Given the description of an element on the screen output the (x, y) to click on. 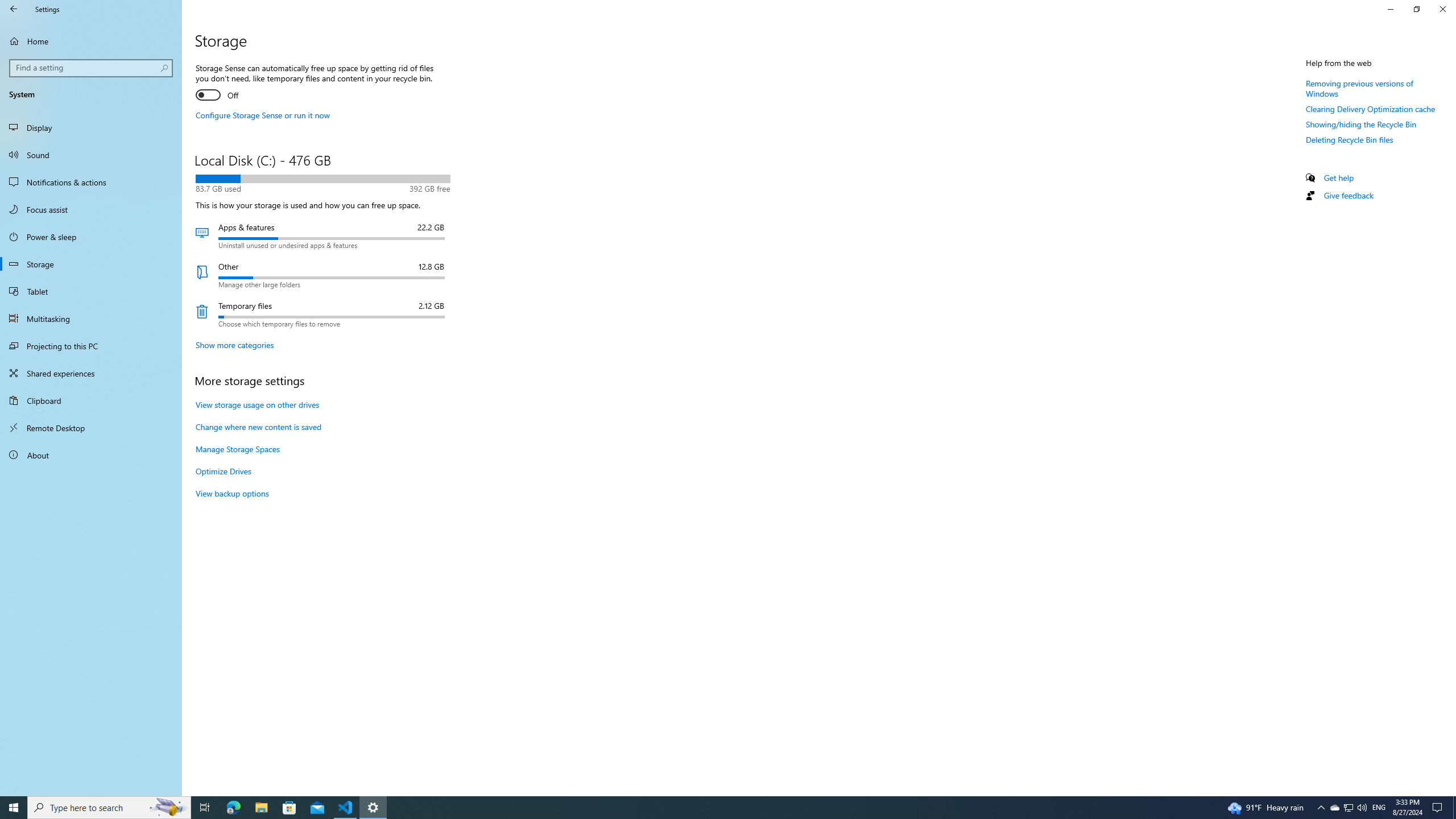
Task View (204, 807)
File Explorer (261, 807)
Showing/hiding the Recycle Bin (1361, 123)
Type here to search (1333, 807)
Focus assist (108, 807)
Action Center, No new notifications (91, 208)
Show desktop (1439, 807)
Minimize Settings (1454, 807)
Clearing Delivery Optimization cache (1390, 9)
Other (1370, 108)
